Given the description of an element on the screen output the (x, y) to click on. 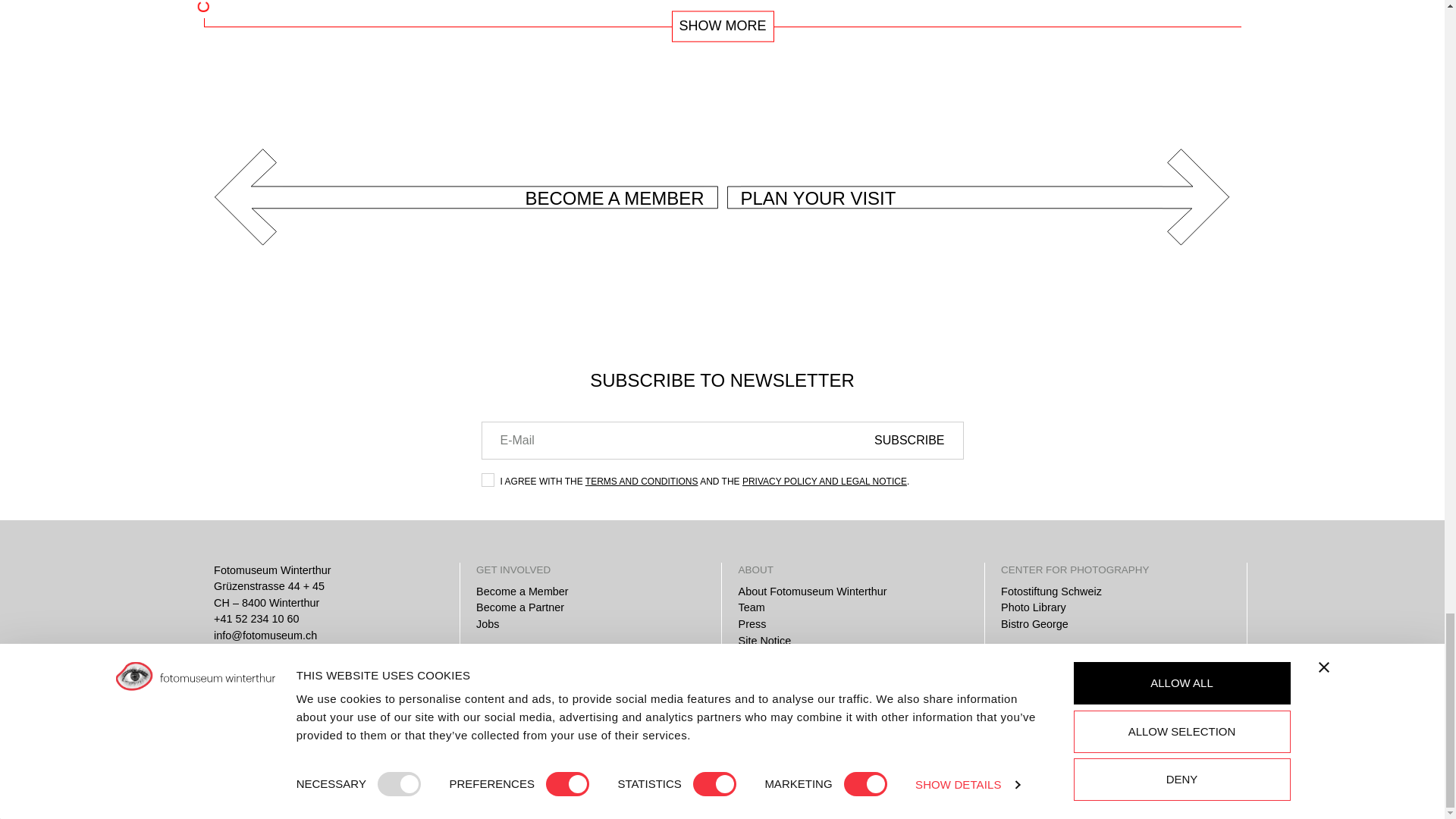
newsletter (487, 479)
